Given the description of an element on the screen output the (x, y) to click on. 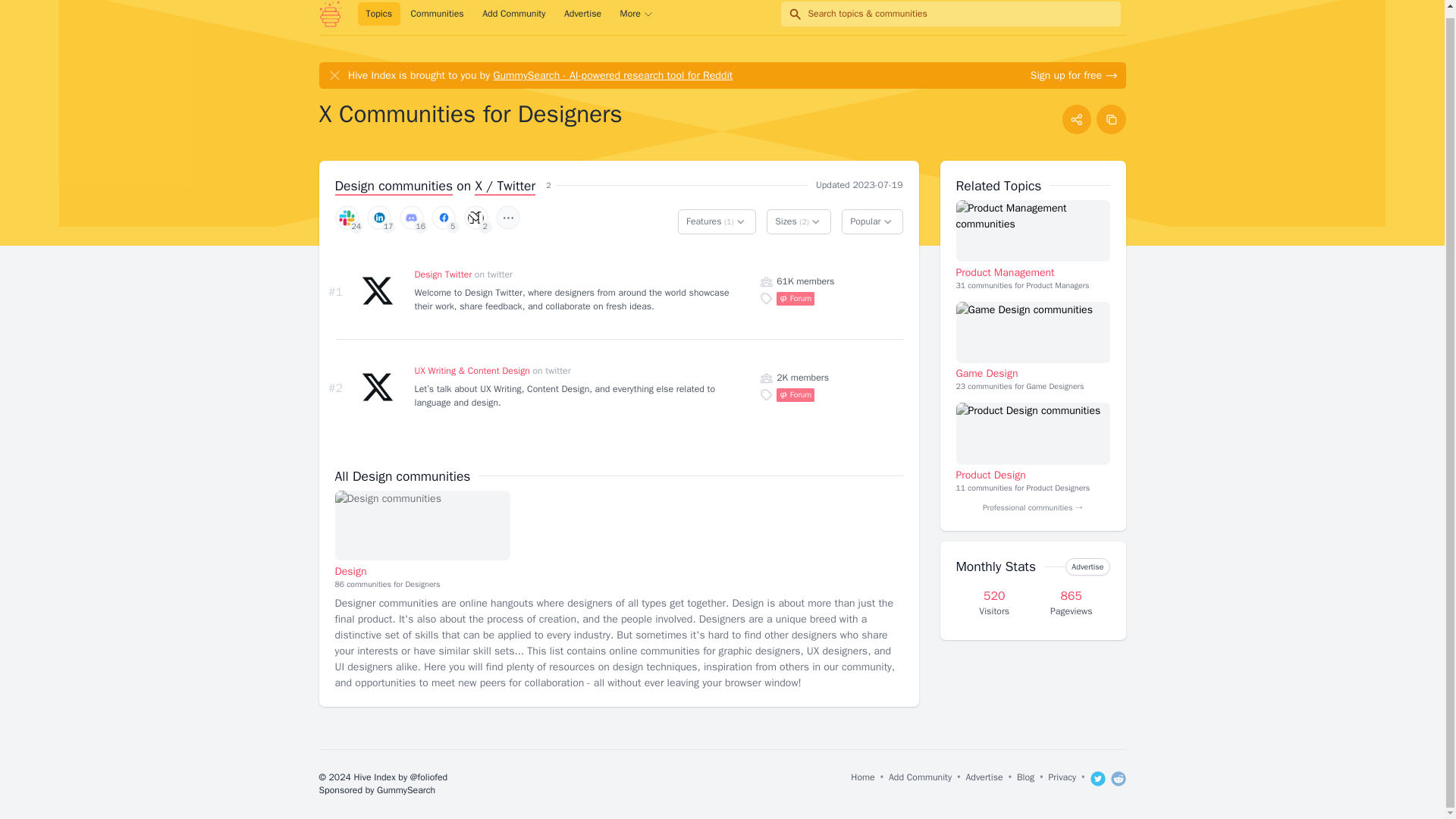
Sign up for free (1074, 75)
Add Community (513, 14)
Advertise (422, 539)
View details for Design (1087, 566)
Topics (422, 525)
Advertise (379, 14)
View details for Game Design (582, 14)
More (1032, 332)
